Given the description of an element on the screen output the (x, y) to click on. 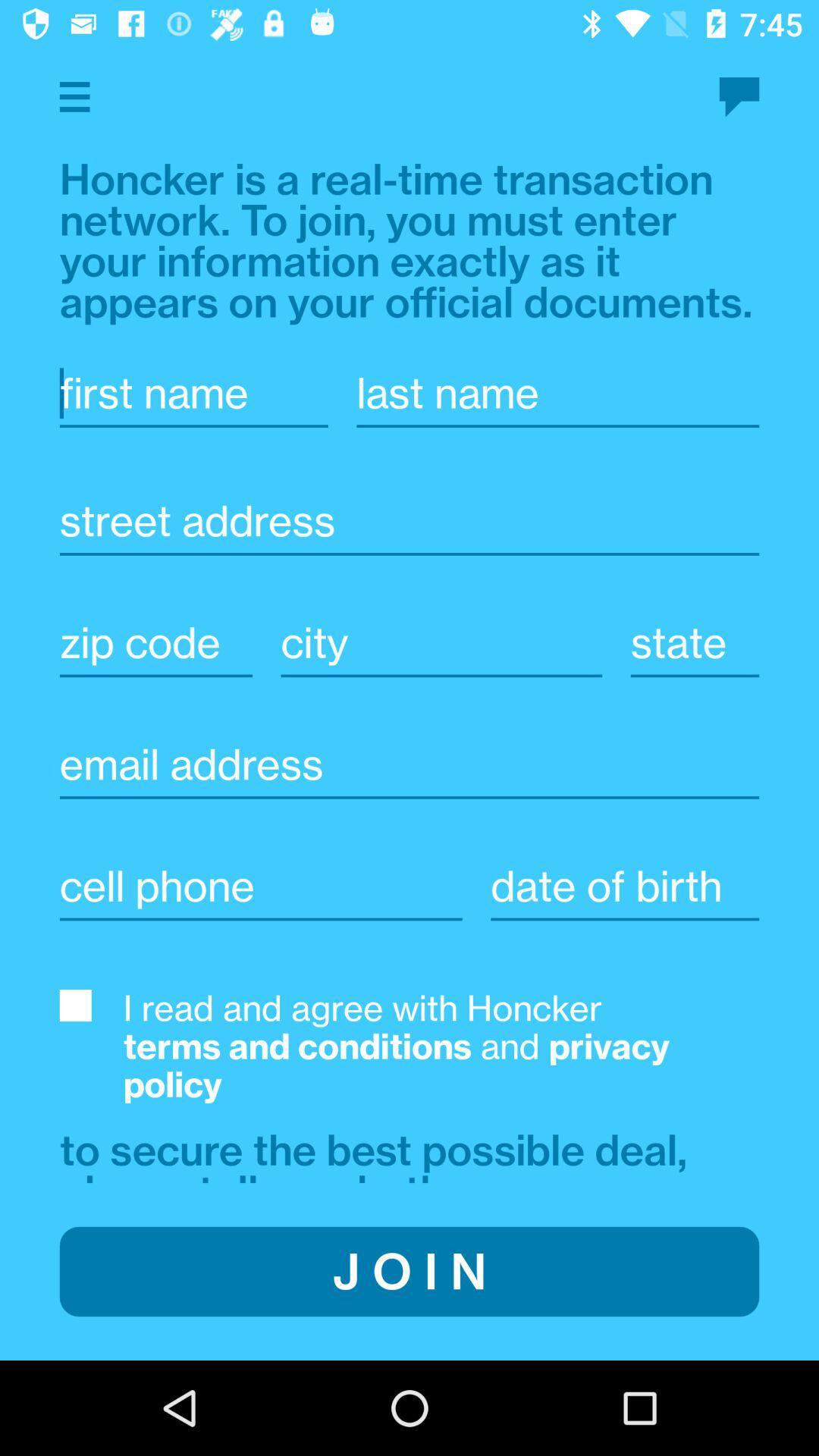
click item below the i read and item (379, 1153)
